Given the description of an element on the screen output the (x, y) to click on. 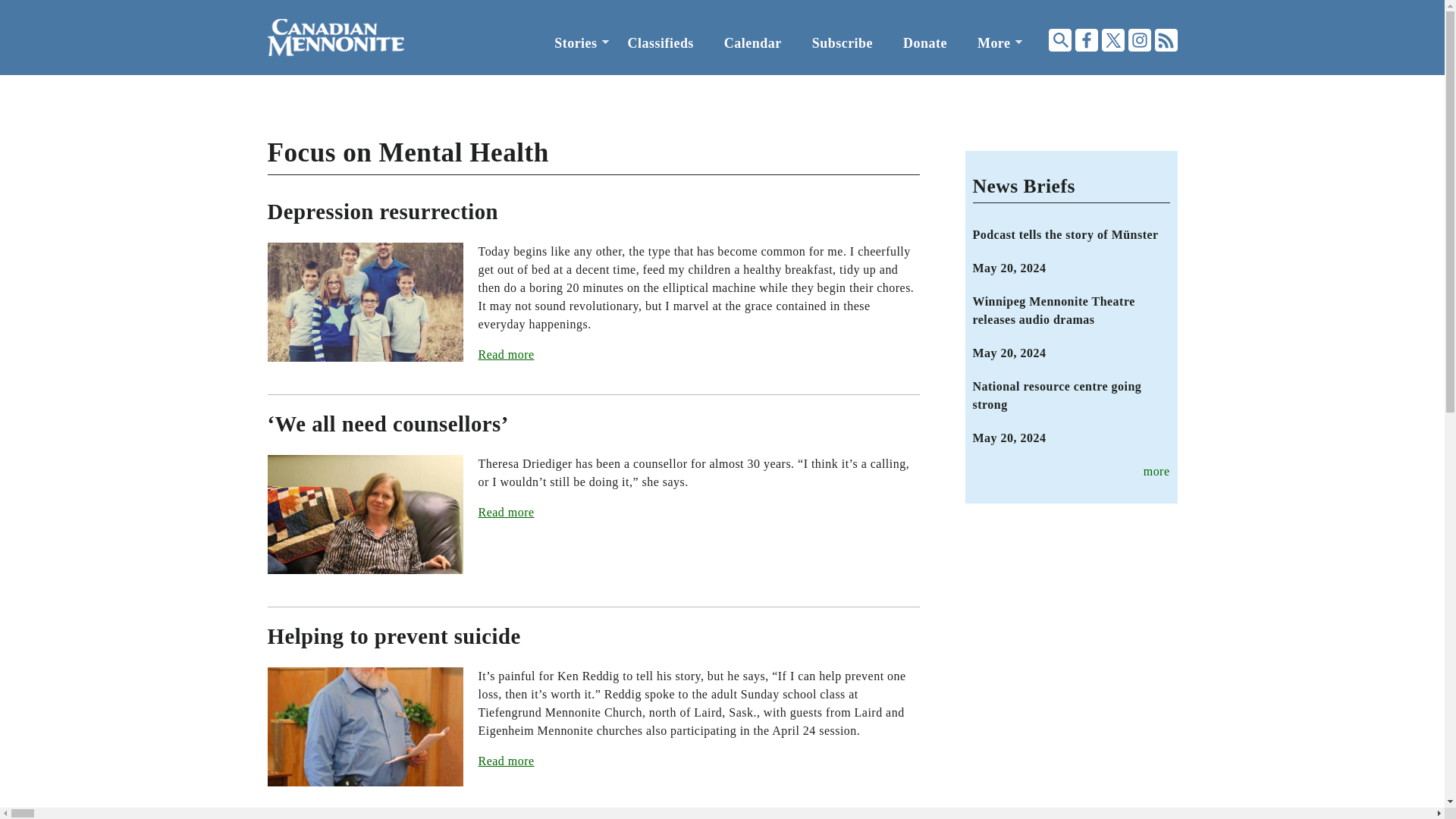
Subscribe to Canadian Mennonite (842, 42)
Depression resurrection (381, 211)
Donate (925, 42)
Subscribe (842, 42)
Classifieds (660, 42)
Church Events Calendar (752, 42)
Browse Stories (574, 42)
RSS (1165, 39)
Calendar (752, 42)
Support Canadian Mennonite (925, 42)
